Given the description of an element on the screen output the (x, y) to click on. 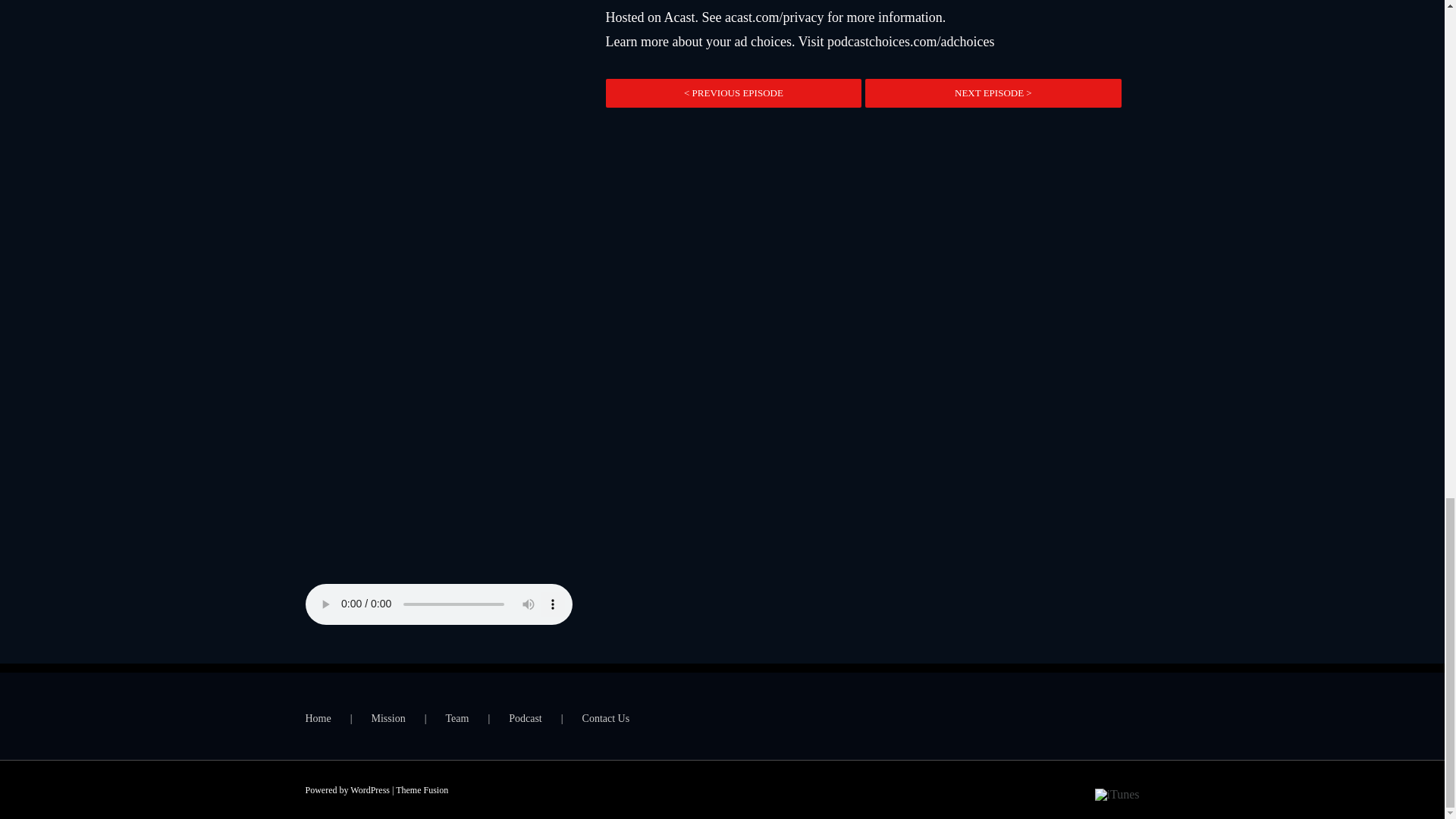
Home (337, 718)
ITunes (1117, 791)
